Given the description of an element on the screen output the (x, y) to click on. 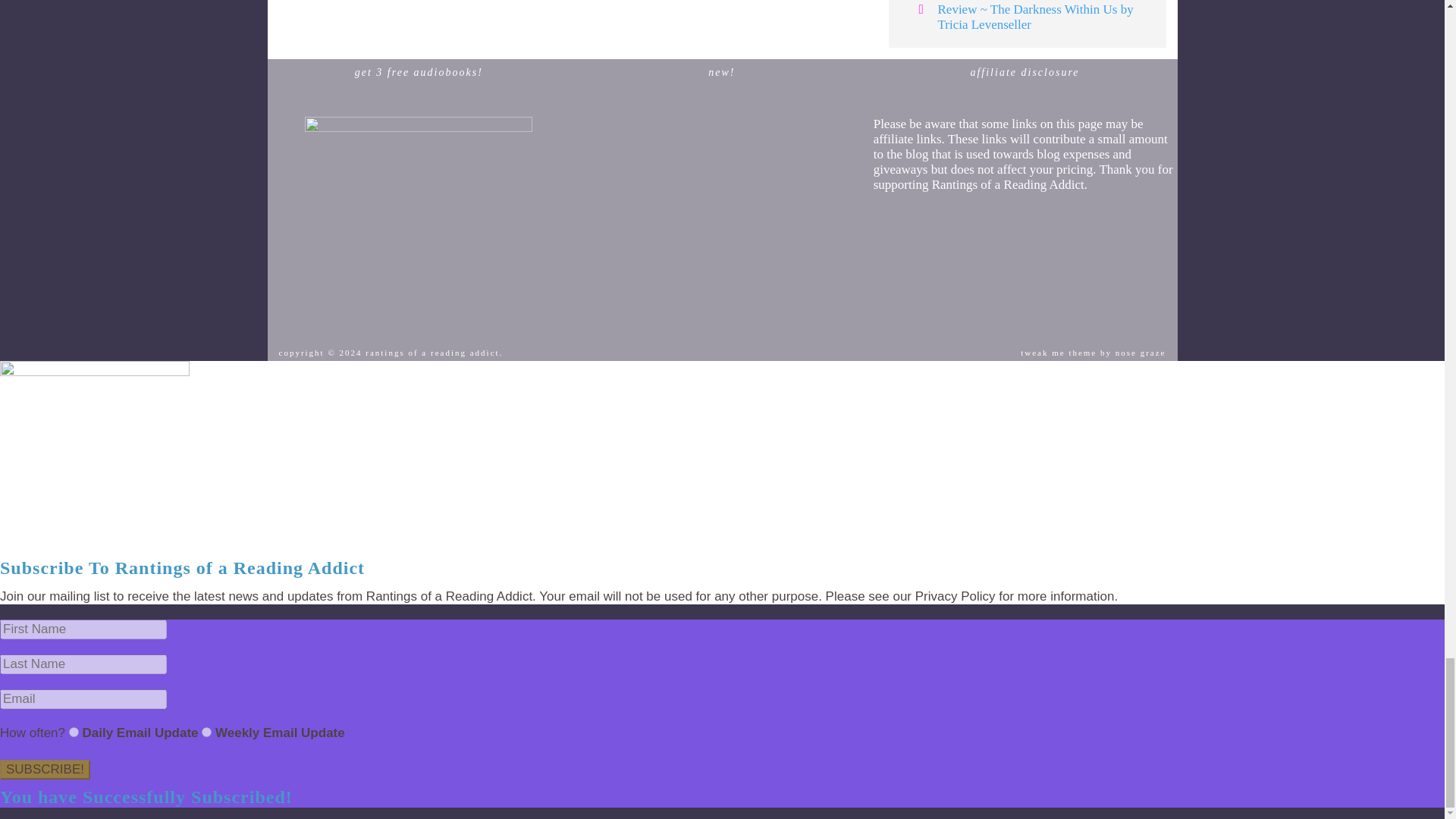
Daily Email Update (73, 732)
Weekly Email Update (206, 732)
